Given the description of an element on the screen output the (x, y) to click on. 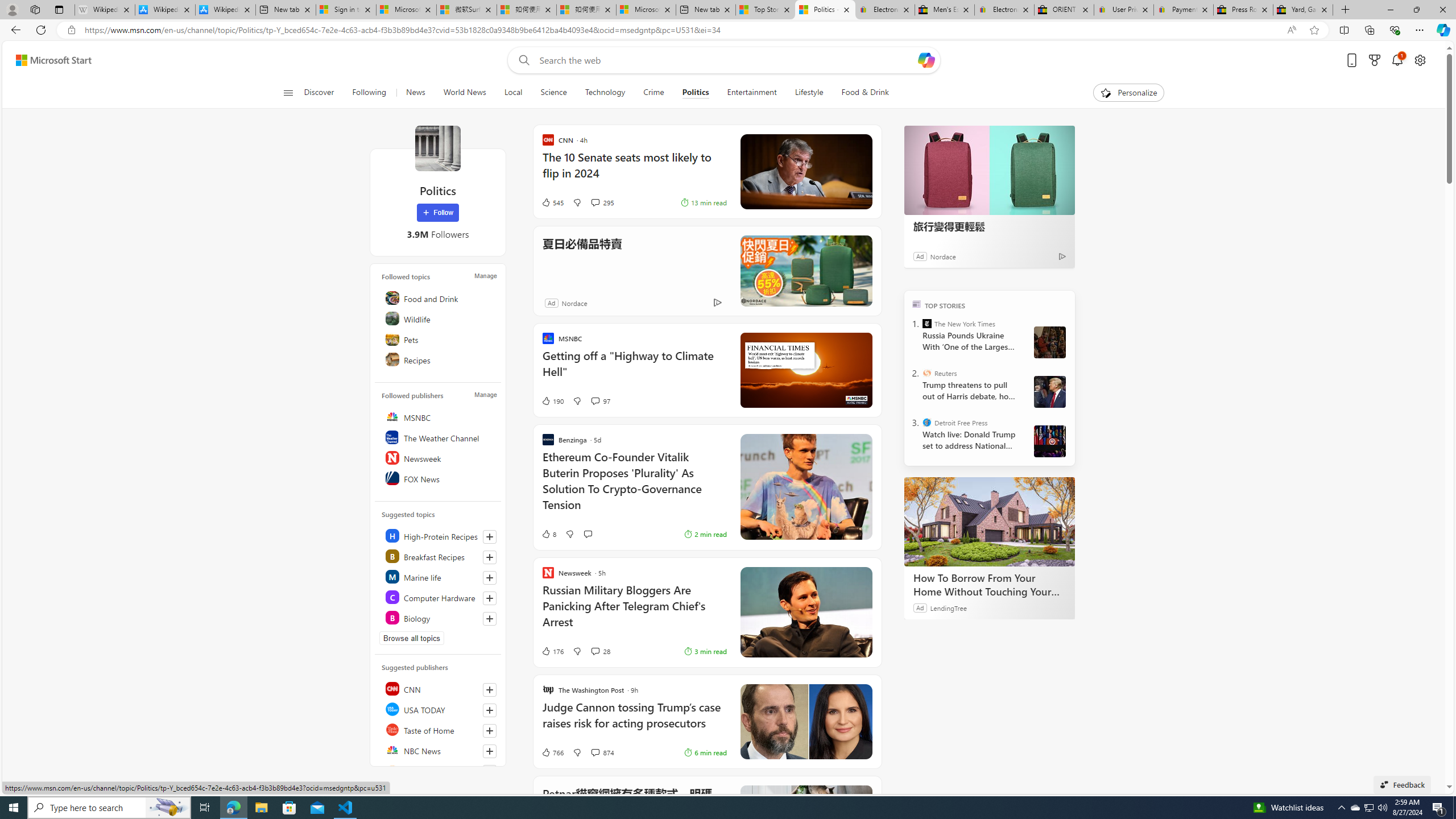
Getting off a "Highway to Climate Hell" (633, 369)
View comments 295 Comment (601, 202)
View comments 28 Comment (594, 651)
View comments 97 Comment (599, 400)
Pets (439, 339)
Politics - MSN (825, 9)
